Given the description of an element on the screen output the (x, y) to click on. 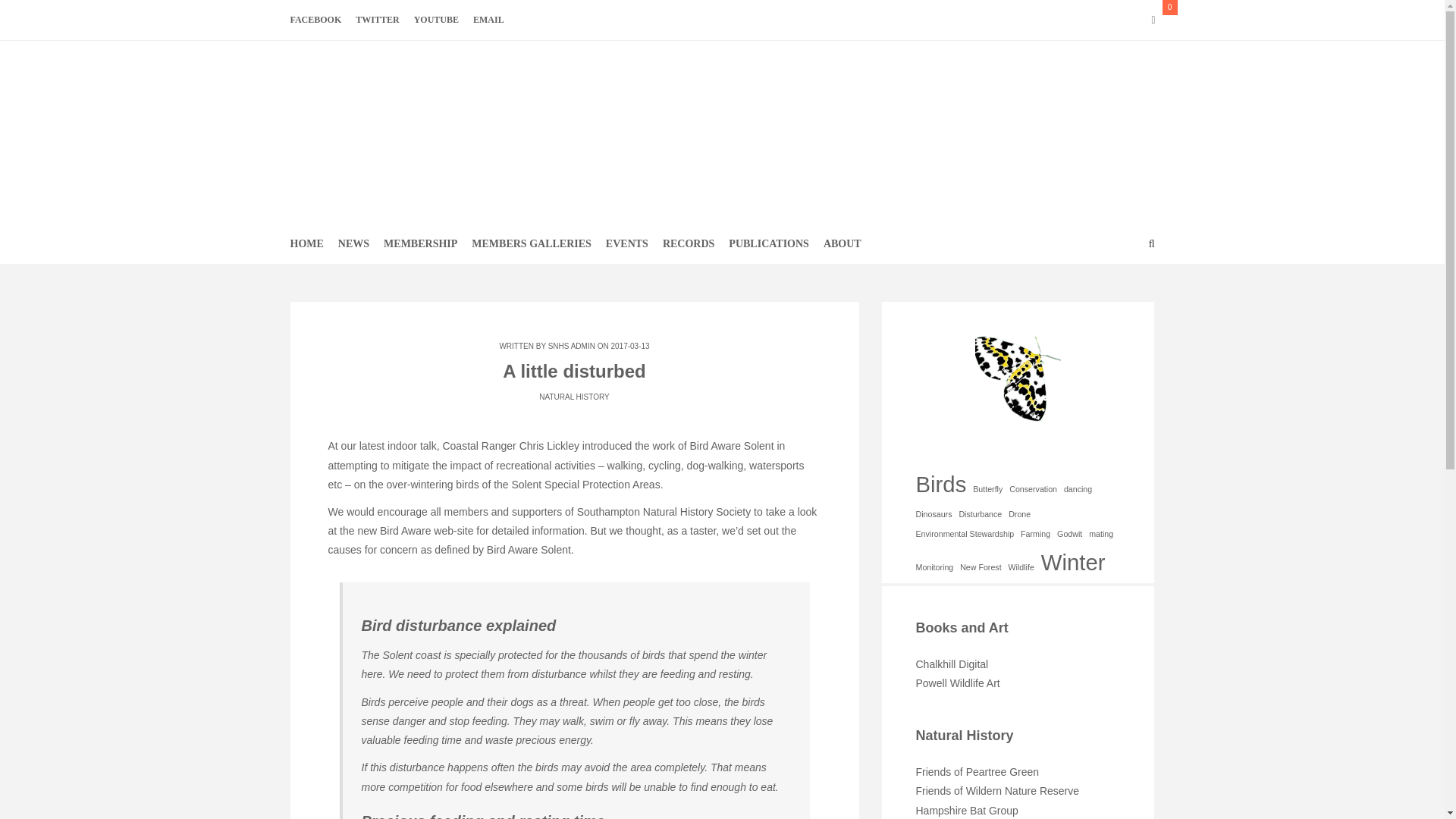
Birds (940, 485)
FACEBOOK (319, 20)
HOME (310, 243)
PUBLICATIONS (768, 243)
MEMBERSHIP (419, 243)
TWITTER (376, 20)
NEWS (353, 243)
Disturbance (979, 513)
Posts by SNHS Admin (571, 346)
ABOUT (841, 243)
RECORDS (688, 243)
EMAIL (488, 20)
YOUTUBE (435, 20)
dancing (1078, 489)
